Given the description of an element on the screen output the (x, y) to click on. 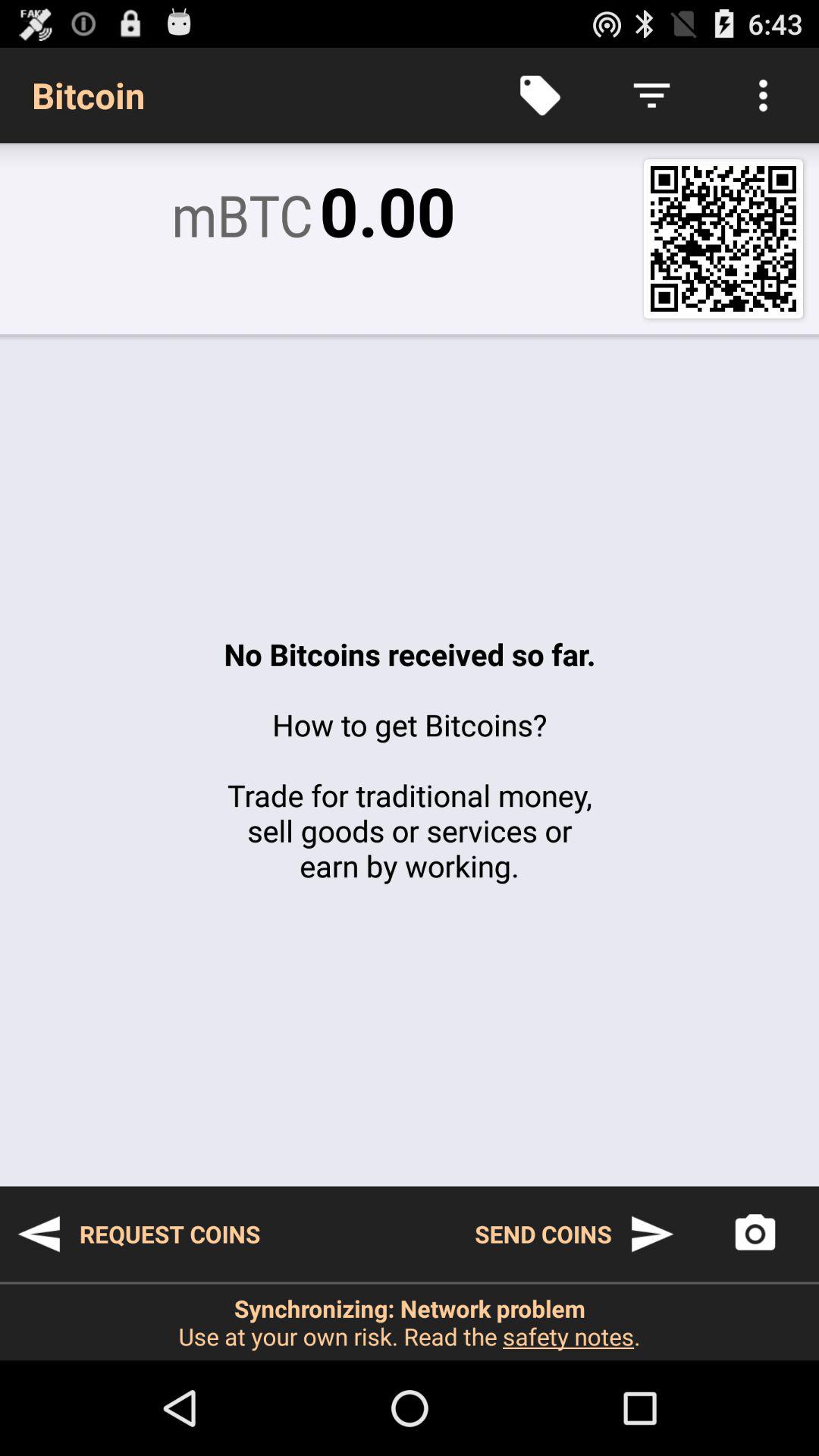
launch the app to the right of the bitcoin item (540, 95)
